Given the description of an element on the screen output the (x, y) to click on. 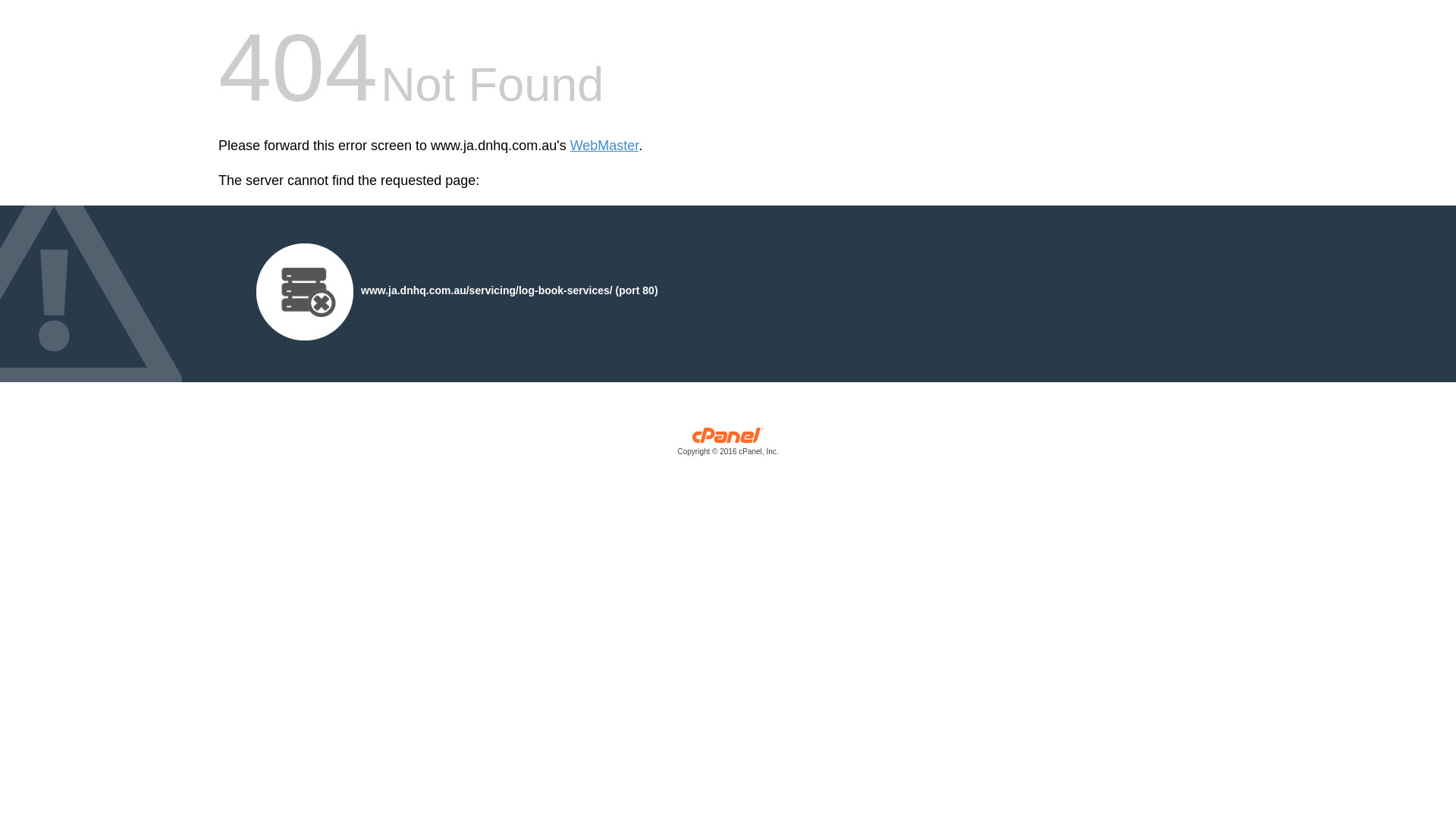
WebMaster Element type: text (604, 145)
